Given the description of an element on the screen output the (x, y) to click on. 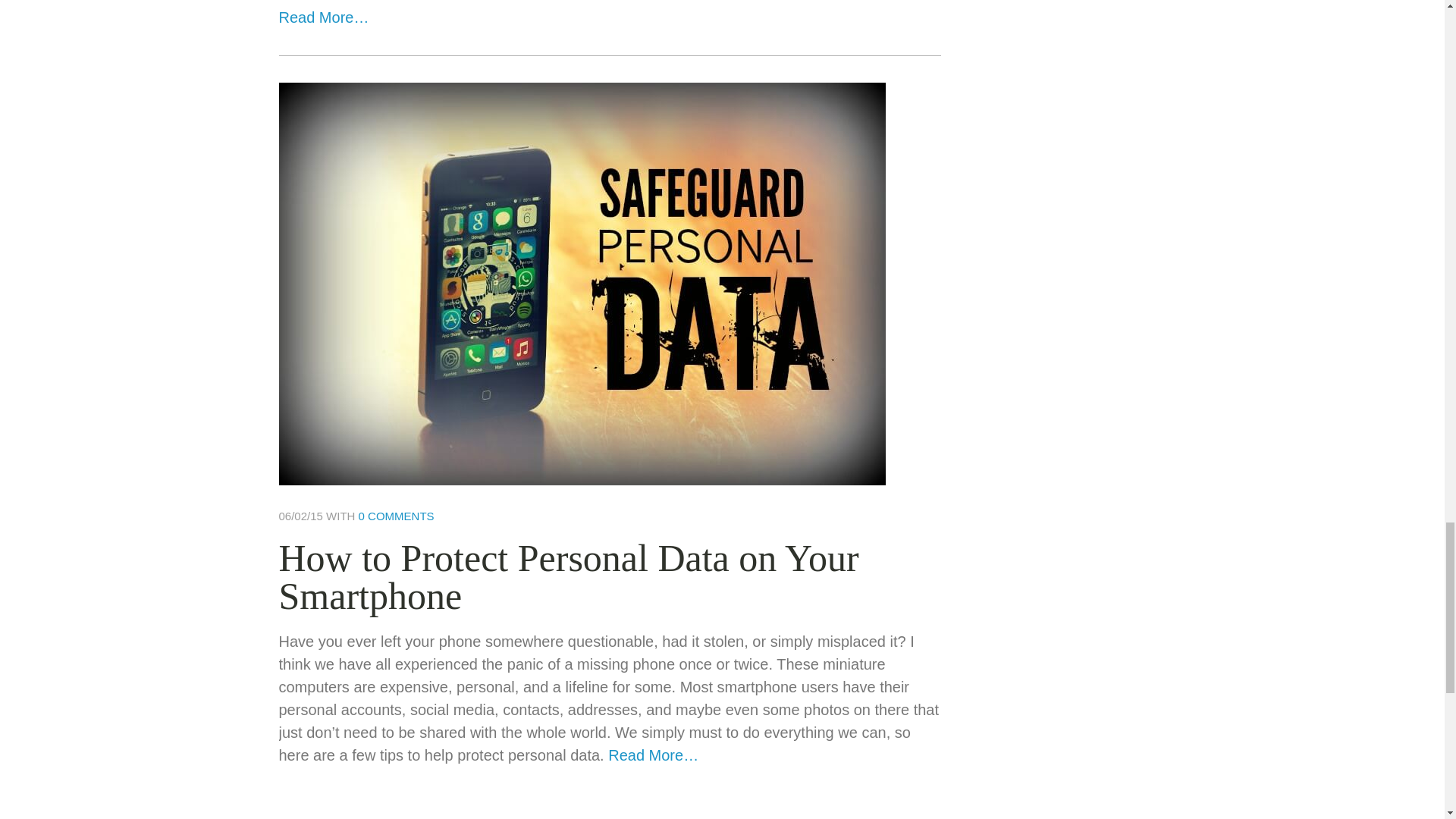
0 COMMENTS (395, 515)
How to Protect Personal Data on Your Smartphone (569, 577)
